Given the description of an element on the screen output the (x, y) to click on. 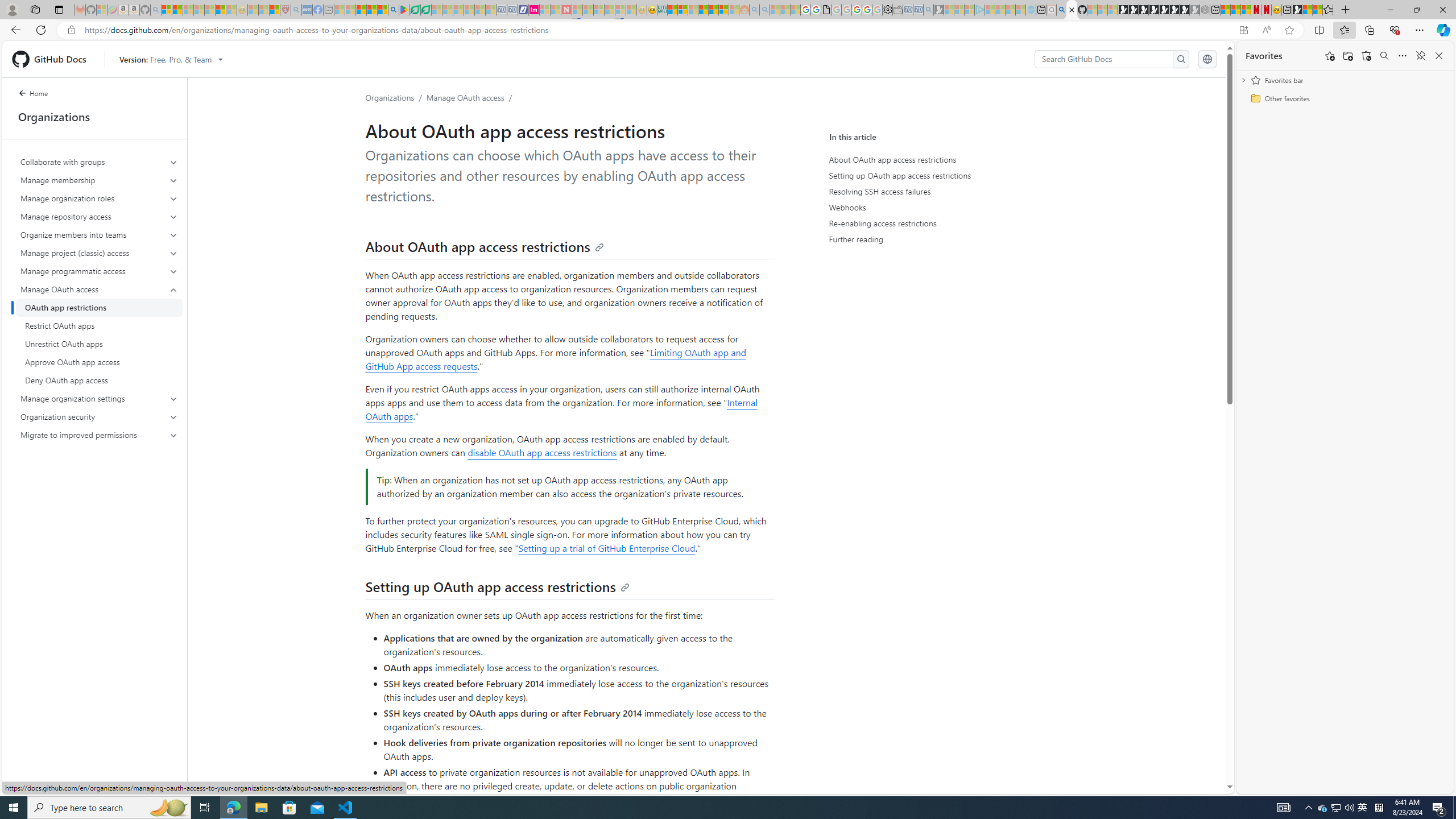
Further reading (935, 239)
Manage organization roles (99, 198)
GitHub Docs (53, 58)
Organize members into teams (99, 235)
Manage organization roles (99, 198)
Collaborate with groups (99, 162)
